Given the description of an element on the screen output the (x, y) to click on. 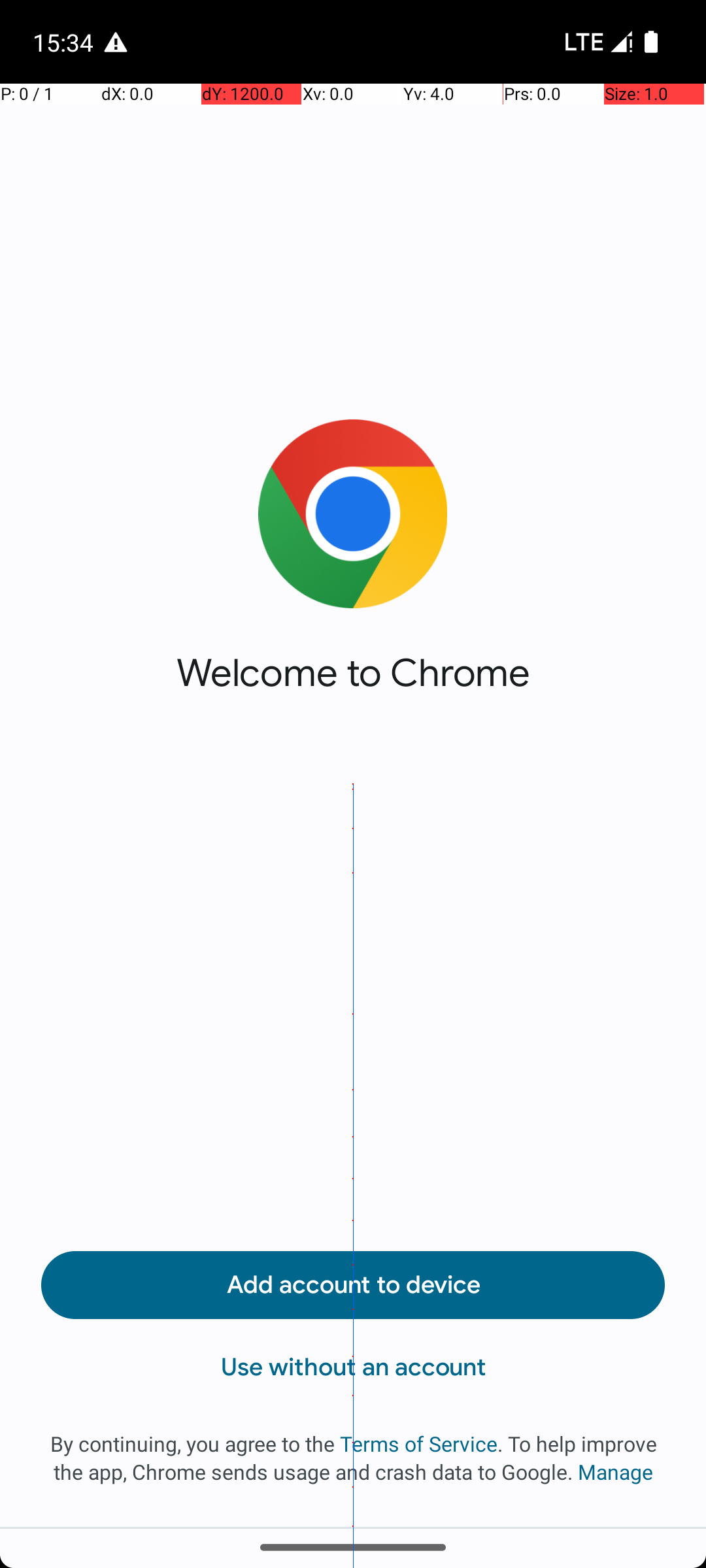
Welcome to Chrome Element type: android.widget.TextView (353, 673)
